Given the description of an element on the screen output the (x, y) to click on. 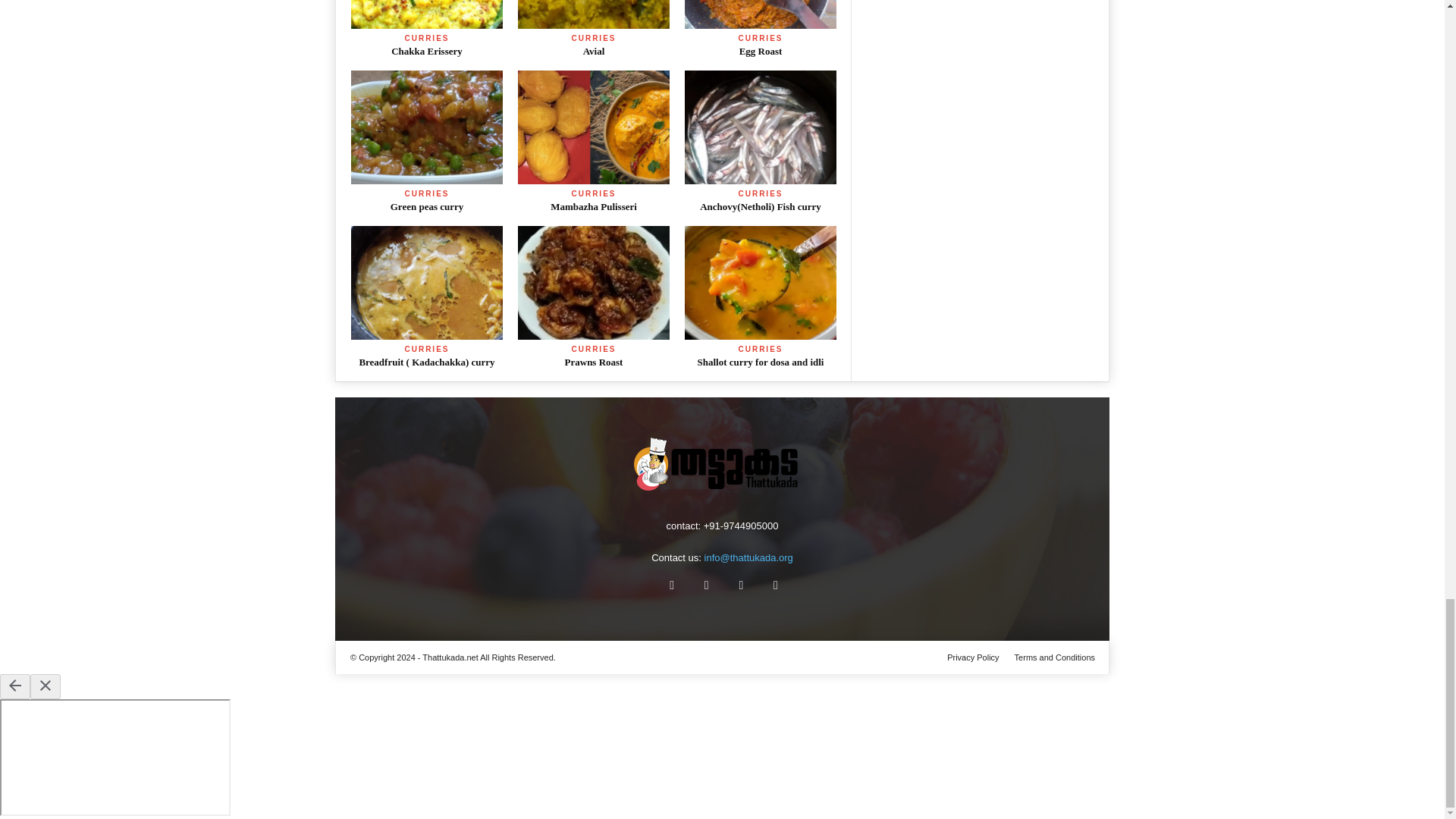
Chakka Erissery (426, 14)
